Given the description of an element on the screen output the (x, y) to click on. 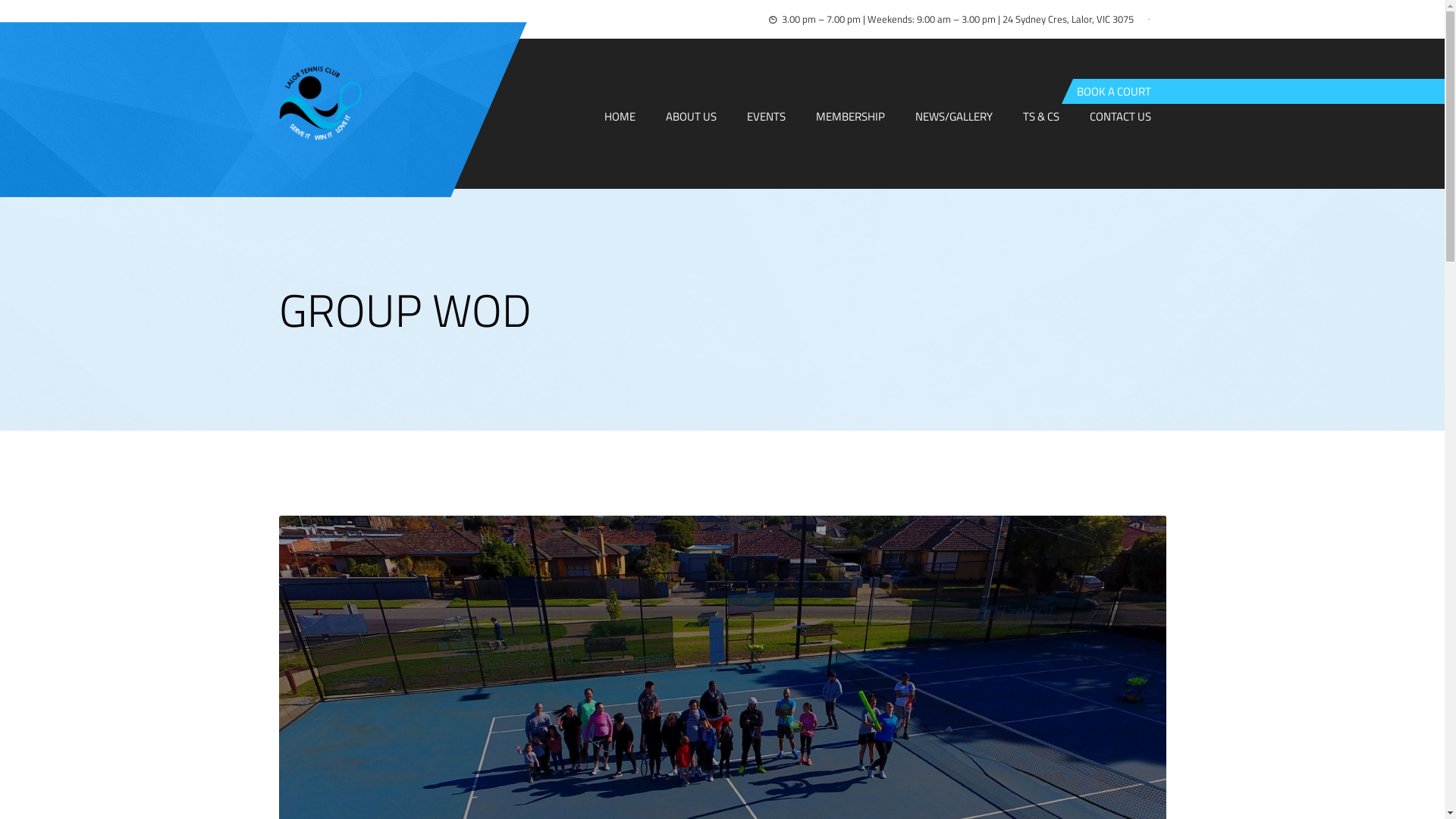
NEWS/GALLERY Element type: text (953, 115)
ABOUT US Element type: text (690, 115)
MEMBERSHIP Element type: text (850, 115)
HOME Element type: text (619, 115)
EVENTS Element type: text (765, 115)
TS & CS Element type: text (1040, 115)
BOOK A COURT Element type: text (1113, 90)
CONTACT US Element type: text (1120, 115)
